Given the description of an element on the screen output the (x, y) to click on. 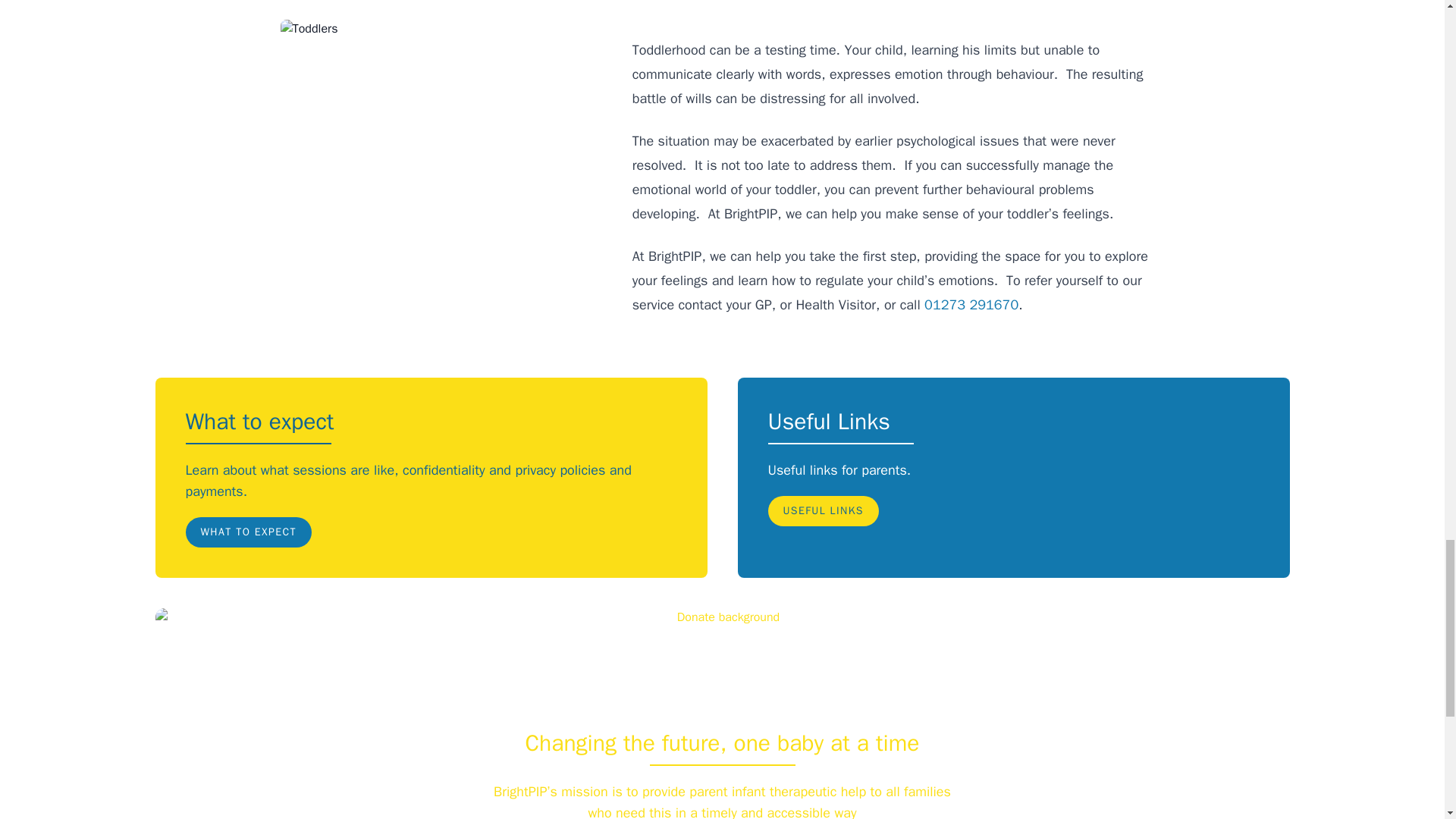
USEFUL LINKS (822, 511)
WHAT TO EXPECT (247, 531)
